Given the description of an element on the screen output the (x, y) to click on. 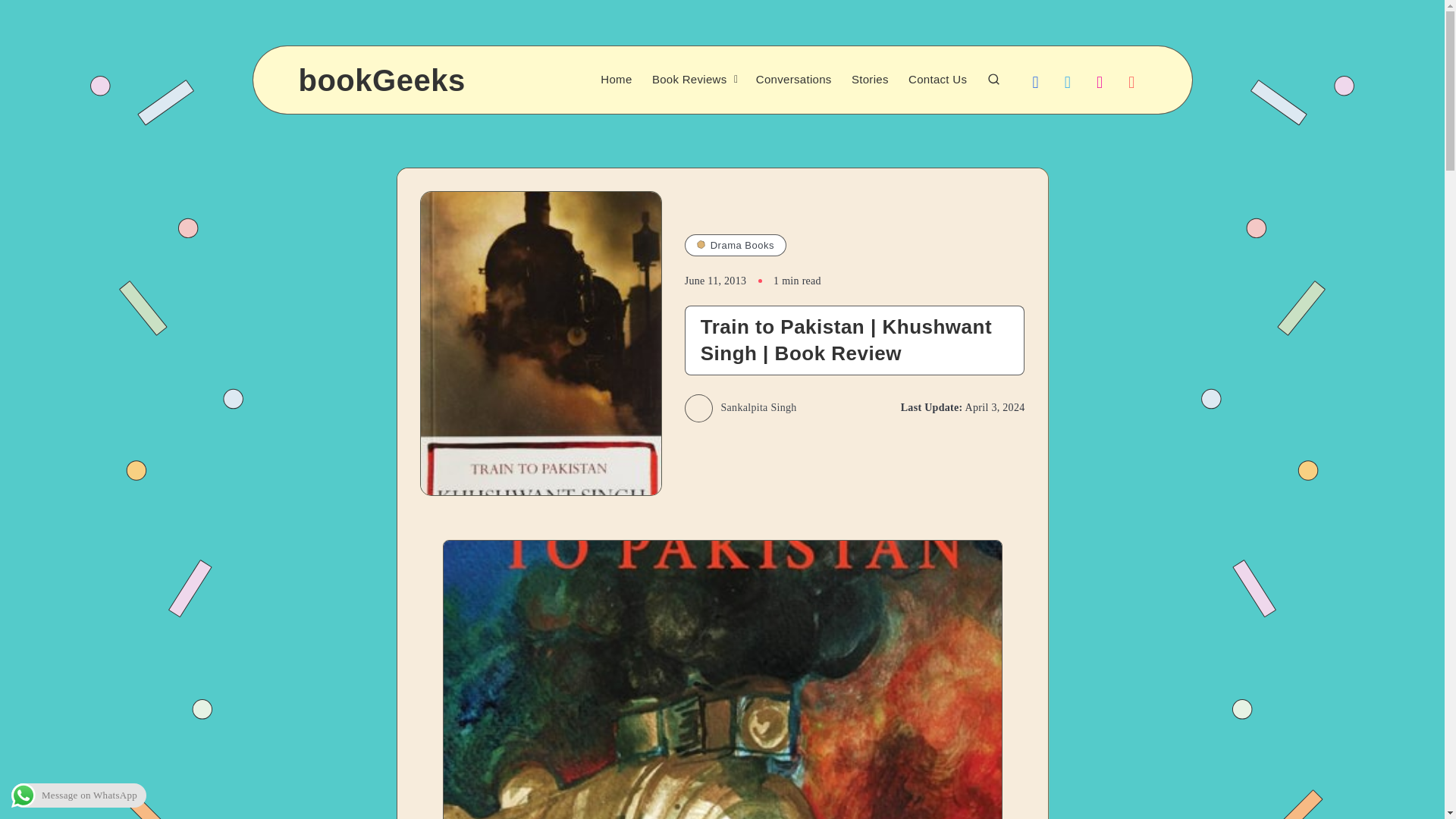
Conversations (793, 79)
Author: Sankalpita Singh (740, 407)
Stories (869, 79)
Drama Books (735, 245)
bookGeeks (381, 80)
Contact Us (937, 79)
Sankalpita Singh (740, 407)
Book Reviews (689, 79)
Home (615, 79)
